Given the description of an element on the screen output the (x, y) to click on. 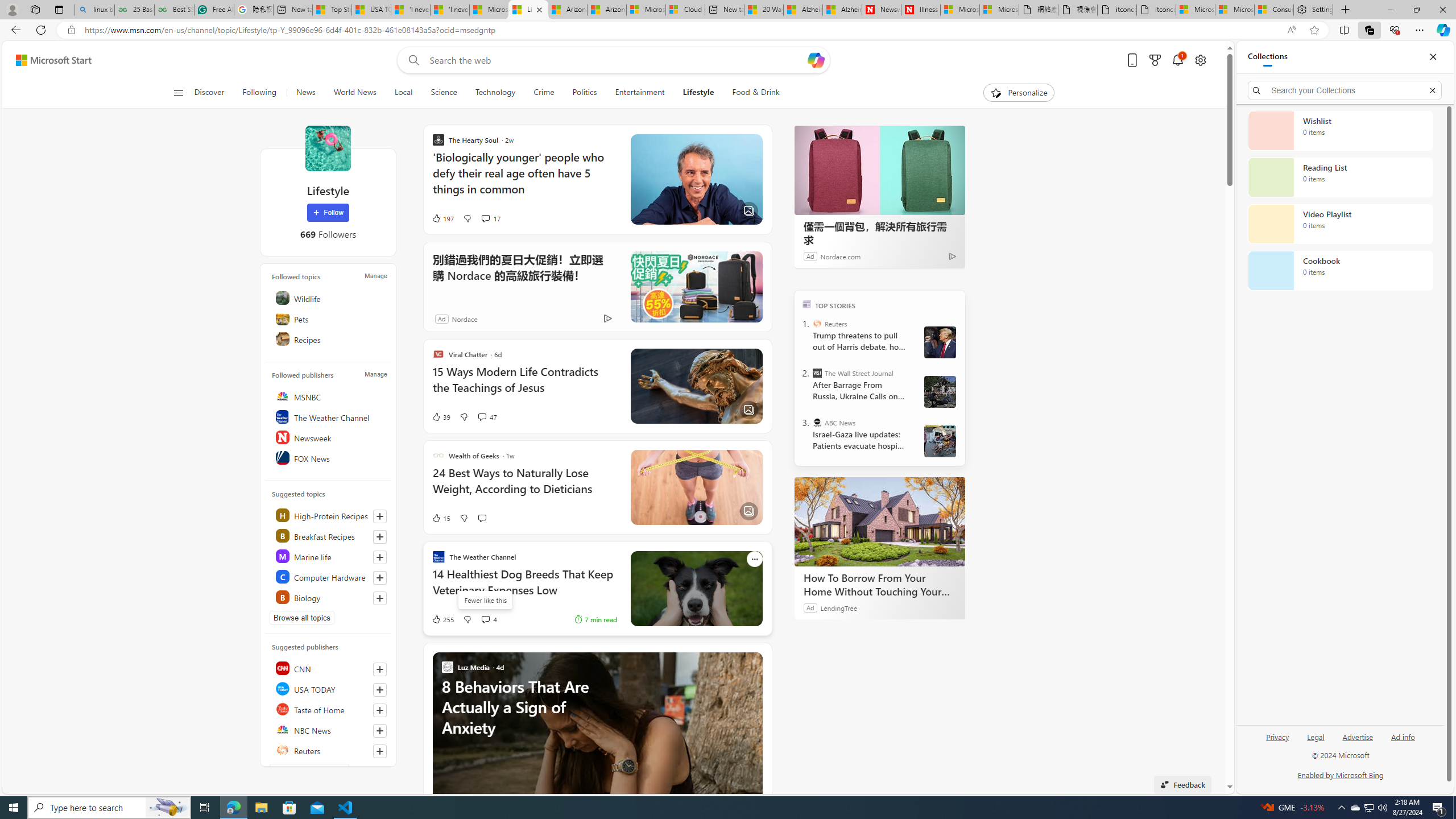
MSNBC (328, 396)
Top Stories - MSN (331, 9)
Wildlife (328, 298)
Exit search (1432, 90)
